Given the description of an element on the screen output the (x, y) to click on. 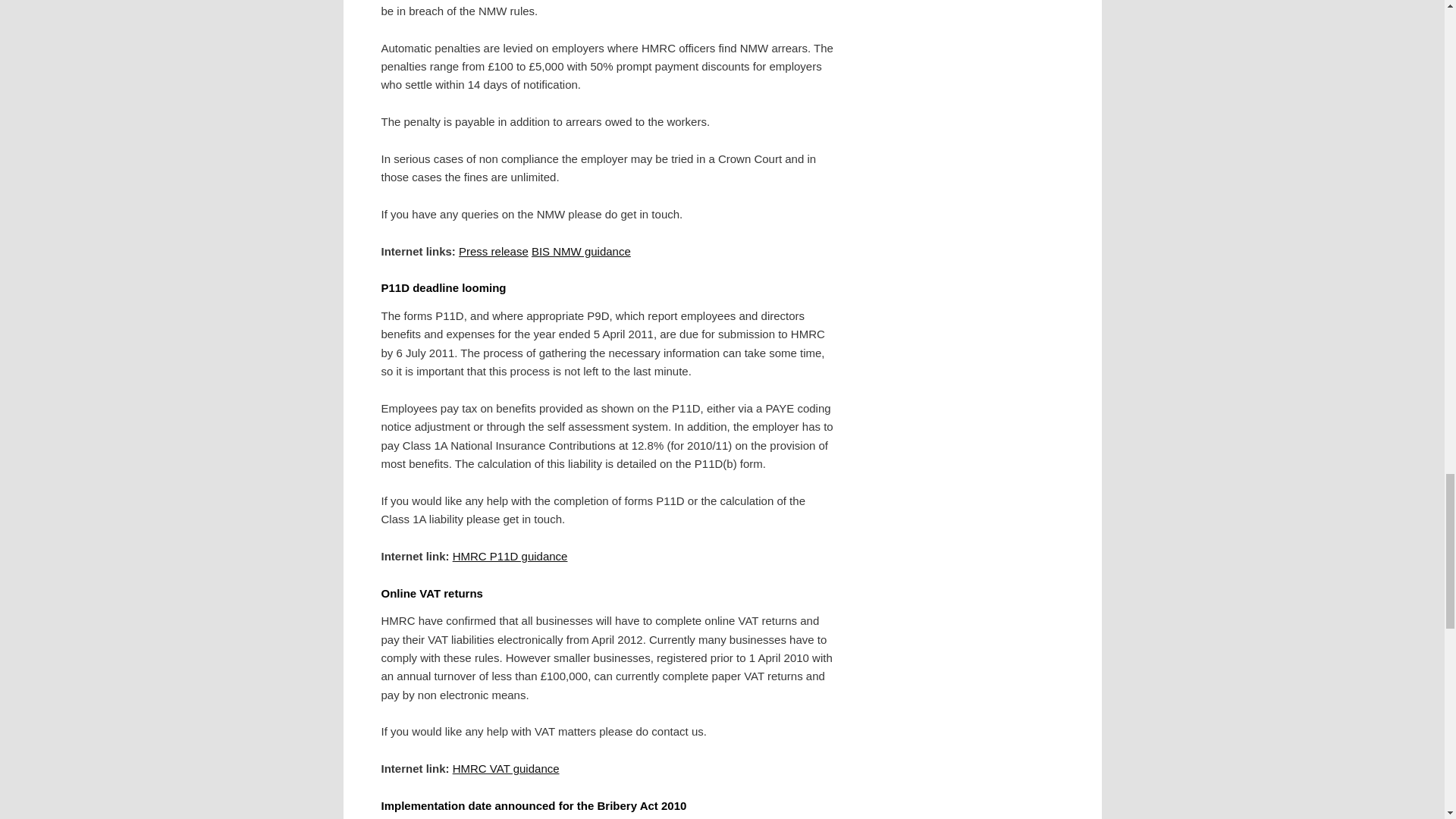
HMRC VAT guidance (505, 768)
HMRC P11D guidance (509, 555)
BIS NMW guidance (580, 250)
Press release (493, 250)
